Given the description of an element on the screen output the (x, y) to click on. 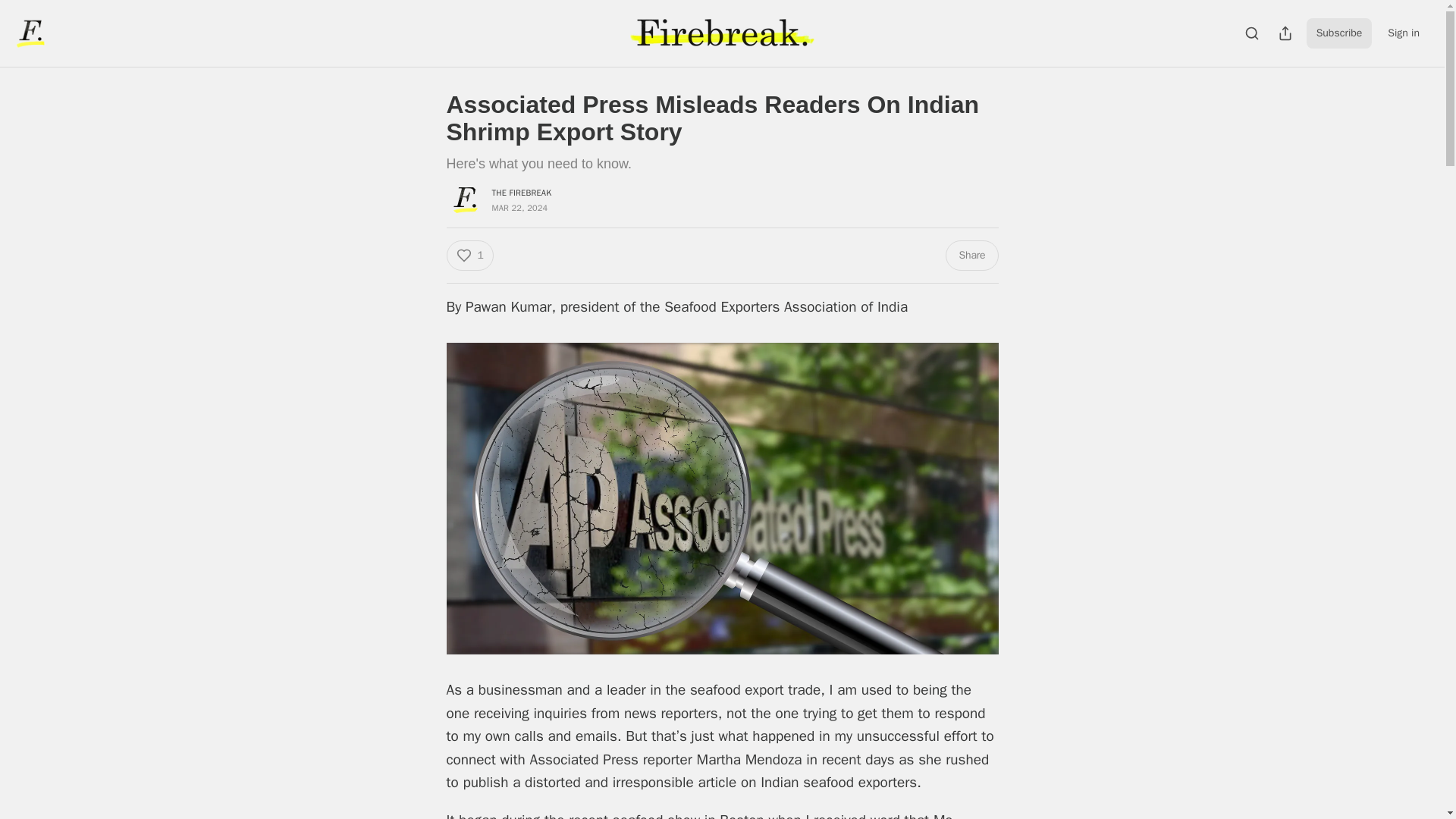
1 (469, 255)
Subscribe (1339, 33)
THE FIREBREAK (521, 192)
Sign in (1403, 33)
Share (970, 255)
